Given the description of an element on the screen output the (x, y) to click on. 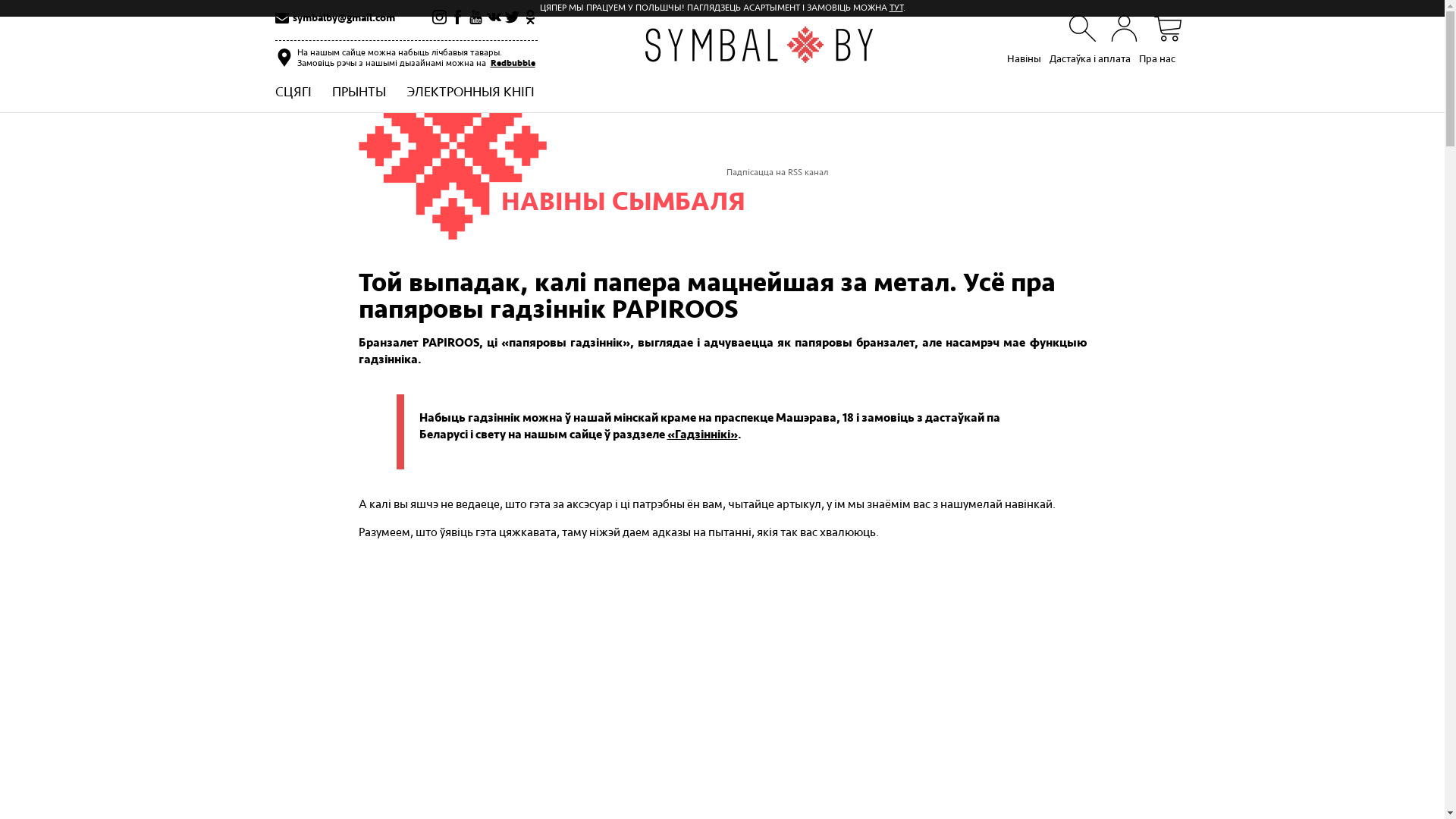
Redbubble Element type: text (512, 63)
symbalby@gmail.com Element type: text (343, 17)
